Given the description of an element on the screen output the (x, y) to click on. 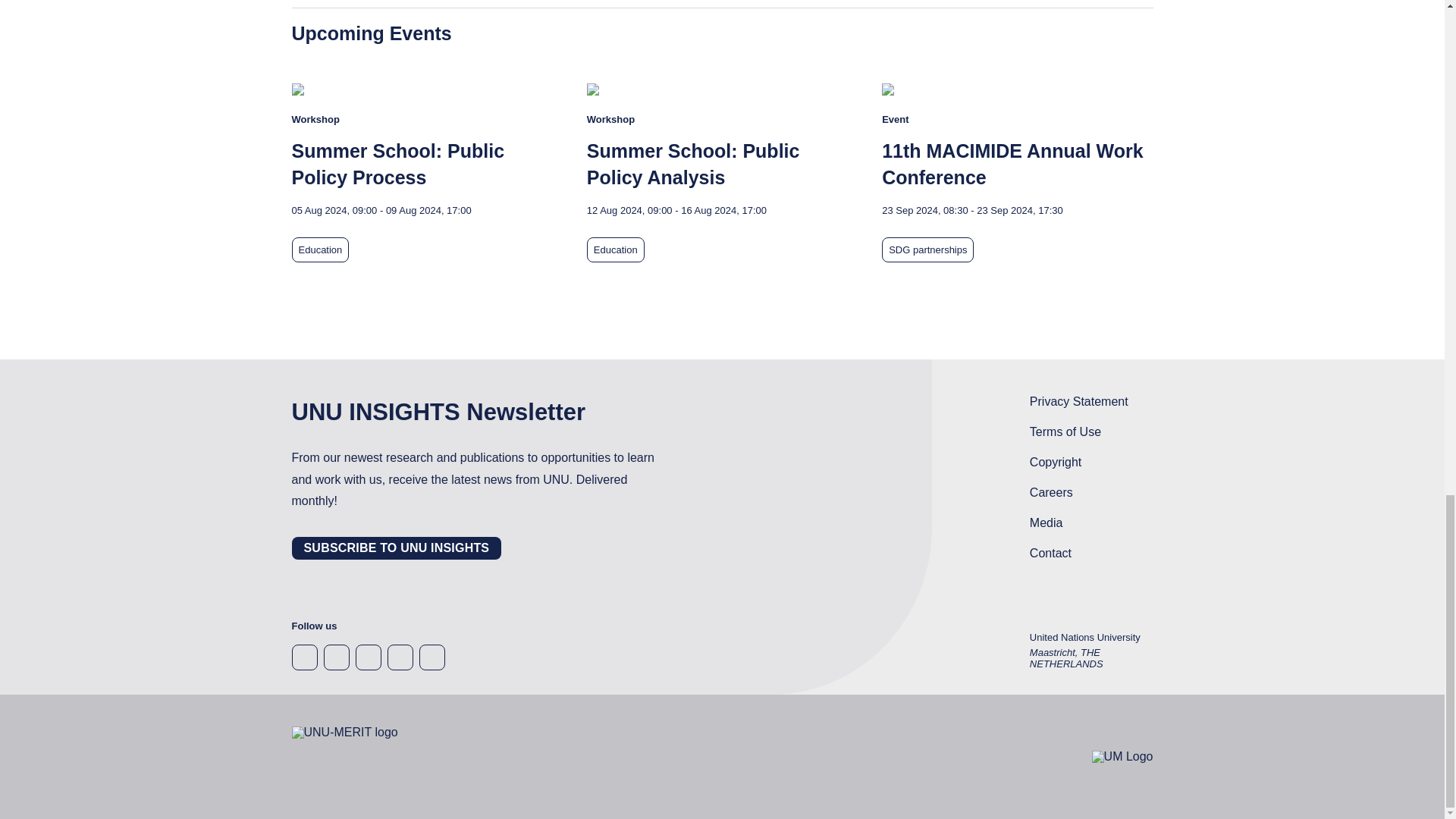
linkedin (367, 657)
twitter (399, 657)
facebook (304, 657)
youtube (431, 657)
